Given the description of an element on the screen output the (x, y) to click on. 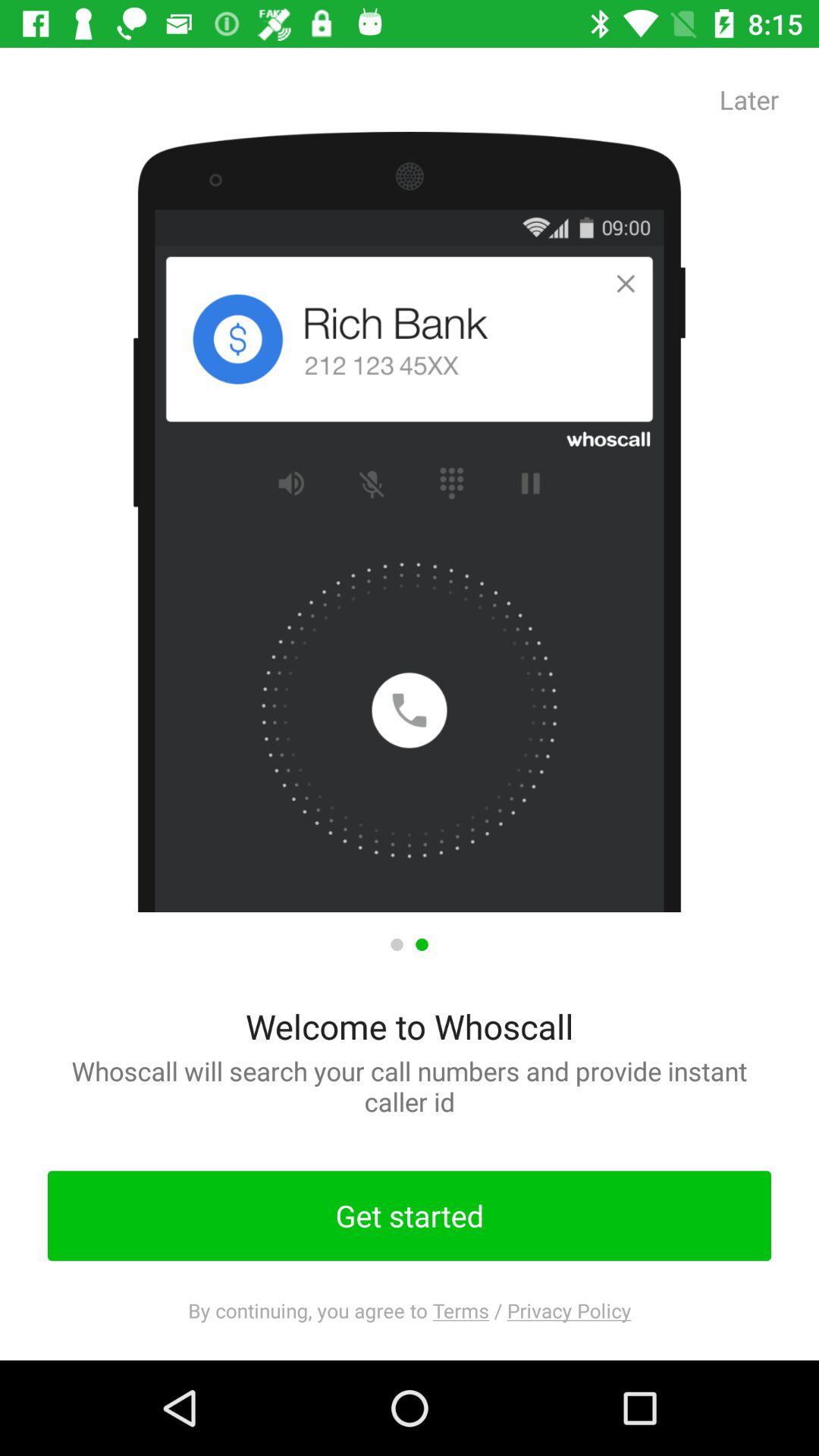
choose the app below the whoscall will search item (409, 1215)
